Given the description of an element on the screen output the (x, y) to click on. 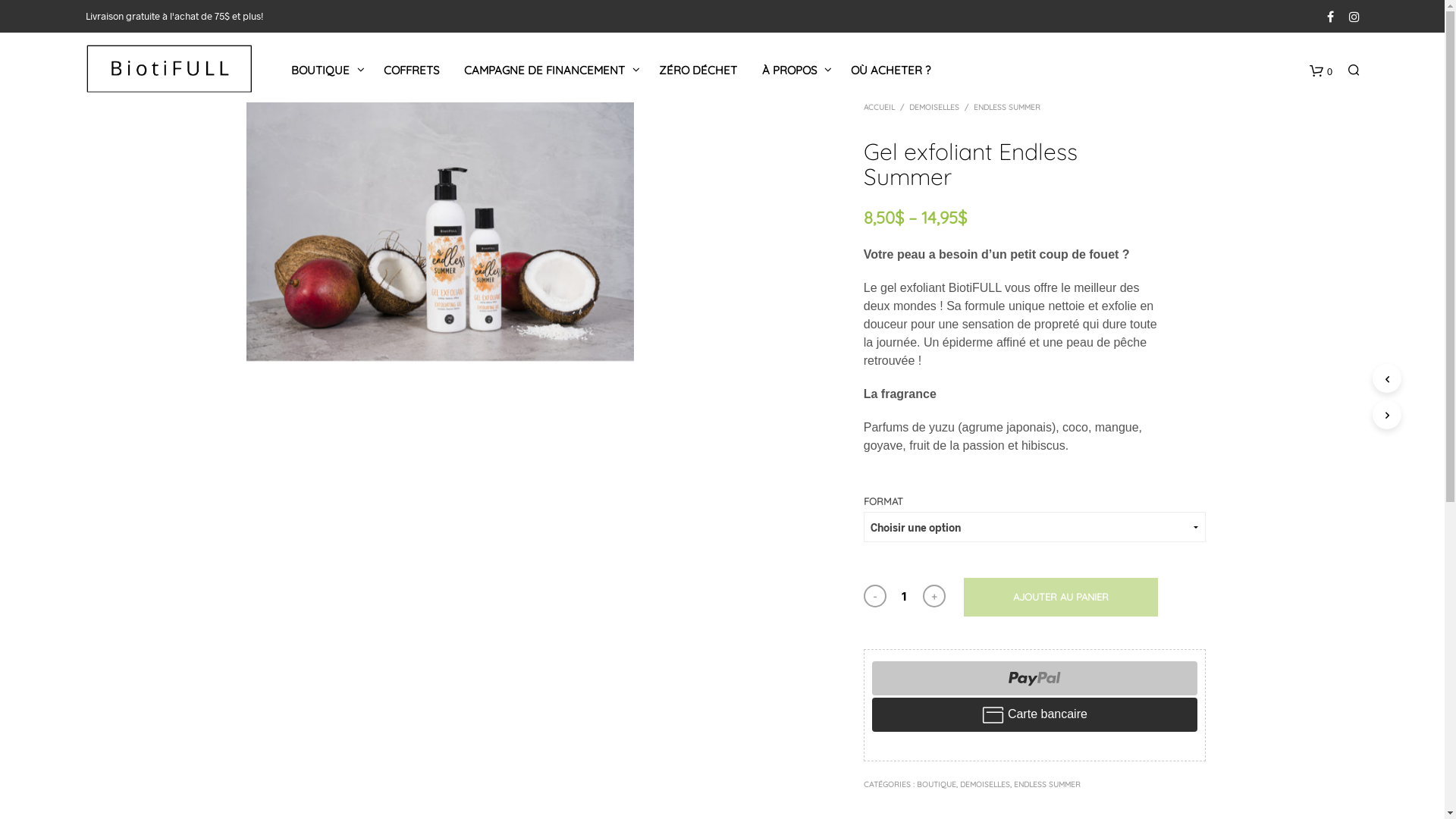
Recherche Element type: text (1082, 692)
0 Element type: text (1319, 69)
PayPal Element type: hover (1034, 714)
DEMOISELLES Element type: text (933, 107)
PayPal Element type: hover (1034, 678)
ENDLESS SUMMER Element type: text (1006, 107)
BOUTIQUE Element type: text (319, 69)
COFFRETS Element type: text (411, 69)
BOUTIQUE Element type: text (936, 784)
ENDLESS SUMMER Element type: text (1046, 784)
Soins corporels Element type: hover (168, 68)
AJOUTER AU PANIER Element type: text (1060, 596)
ACCUEIL Element type: text (881, 107)
DEMOISELLES Element type: text (985, 784)
CAMPAGNE DE FINANCEMENT Element type: text (544, 69)
